Given the description of an element on the screen output the (x, y) to click on. 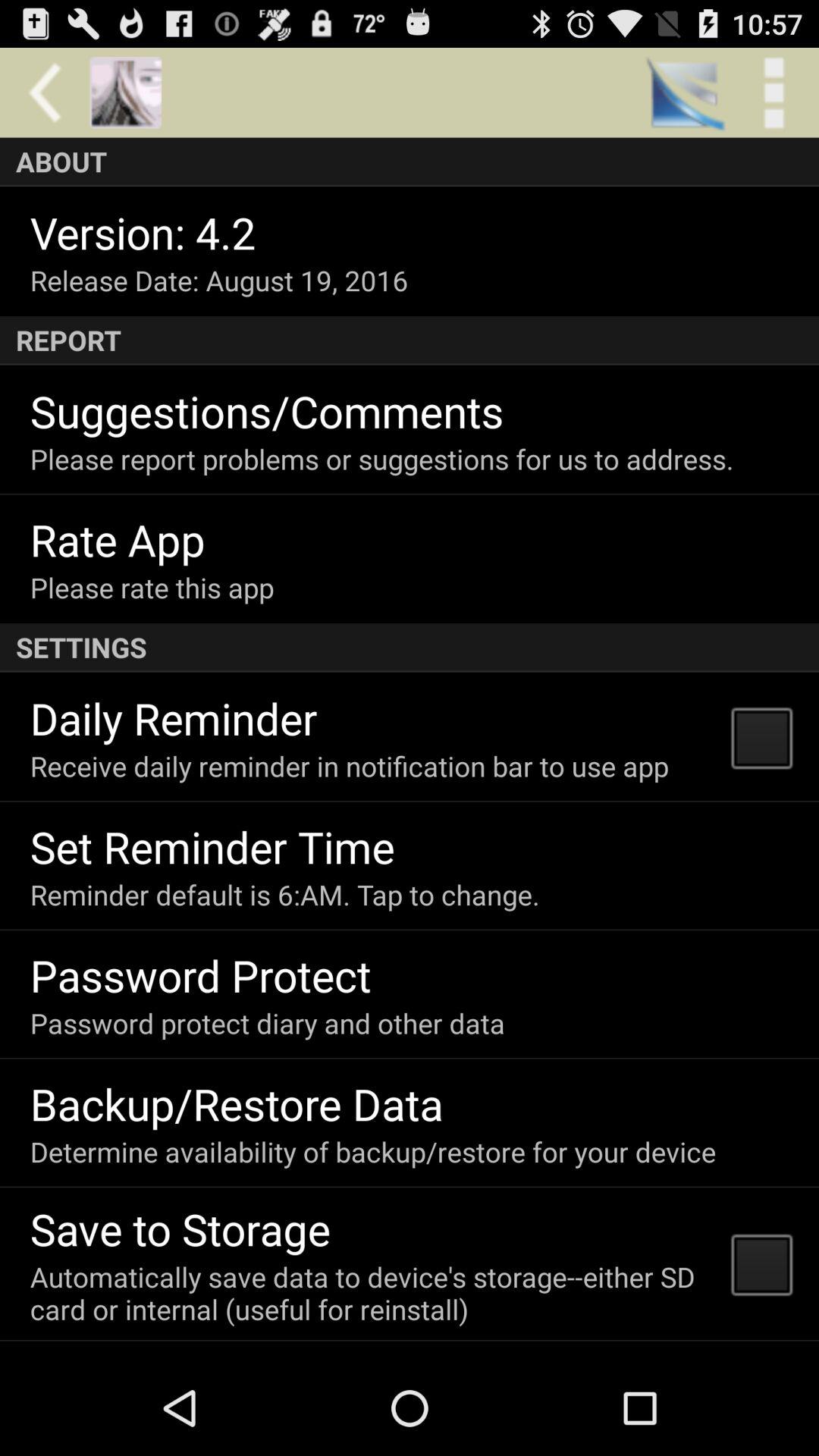
select the item above the password protect item (284, 894)
